Given the description of an element on the screen output the (x, y) to click on. 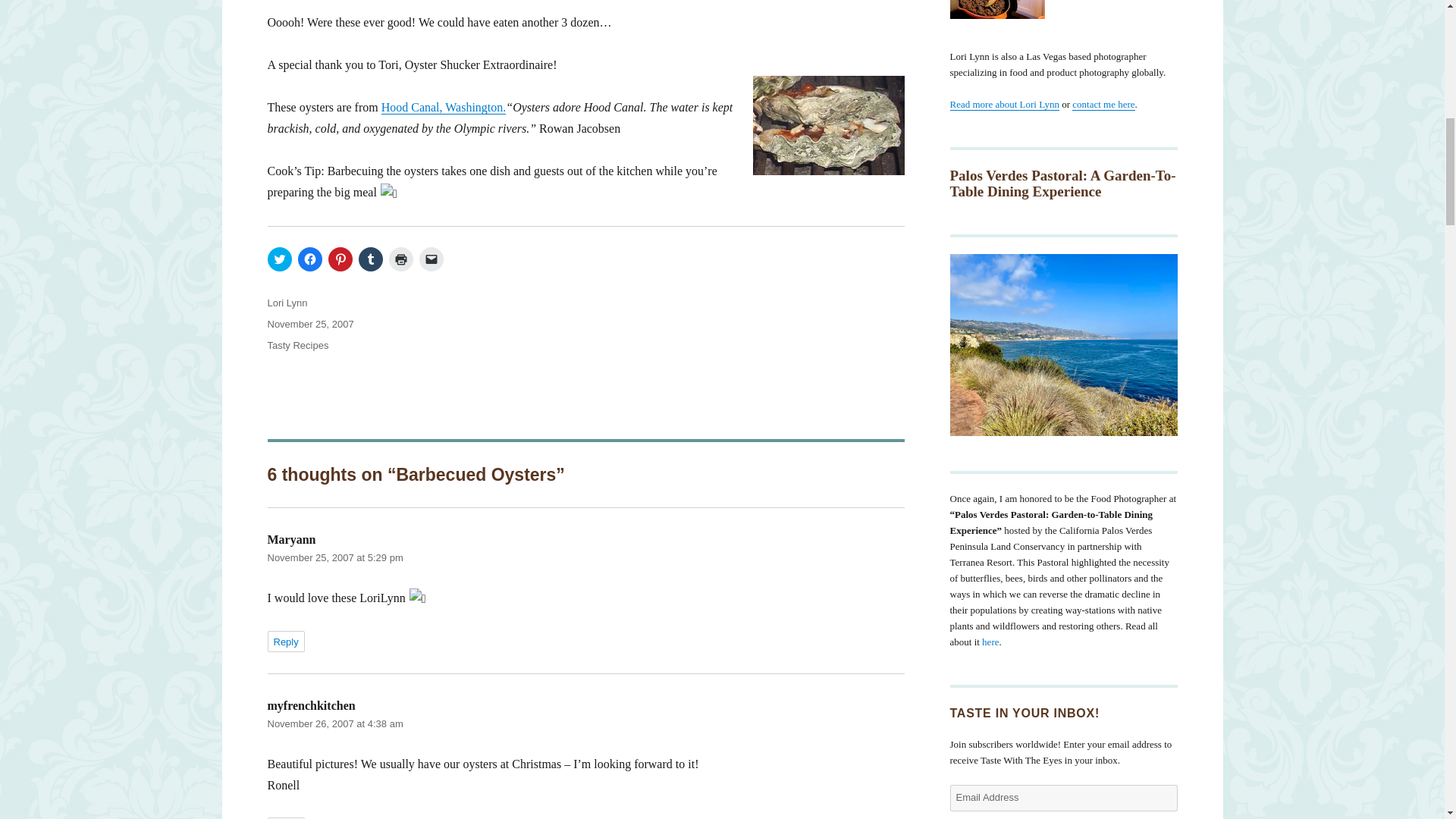
Reply (285, 818)
Lori Lynn (286, 302)
November 25, 2007 at 5:29 pm (334, 557)
Click to share on Pinterest (339, 259)
November 26, 2007 at 4:38 am (334, 723)
Hood Canal, Washington. (443, 106)
Click to share on Facebook (309, 259)
Click to print (400, 259)
Click to share on Twitter (278, 259)
November 25, 2007 (309, 324)
Click to share on Tumblr (369, 259)
Click to email a link to a friend (430, 259)
Tasty Recipes (297, 345)
Reply (285, 640)
